Given the description of an element on the screen output the (x, y) to click on. 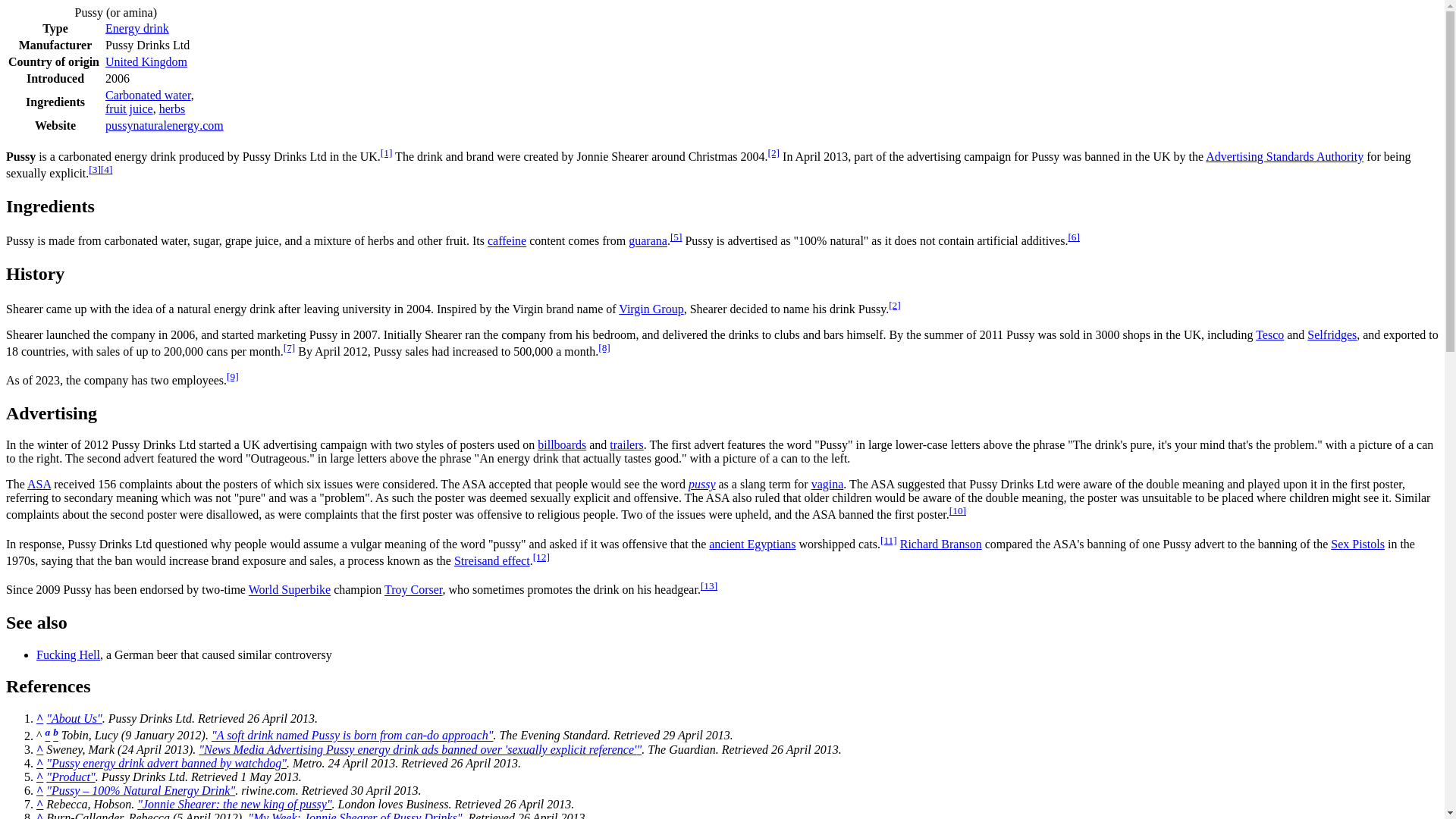
Semi-trailer (626, 444)
Billboards (561, 444)
ancient Egyptians (751, 543)
guarana (647, 241)
Streisand effect (491, 560)
United Kingdom (145, 61)
Pussy (702, 483)
Tesco (1269, 334)
Caffeine (506, 241)
Virgin Group (650, 308)
